Given the description of an element on the screen output the (x, y) to click on. 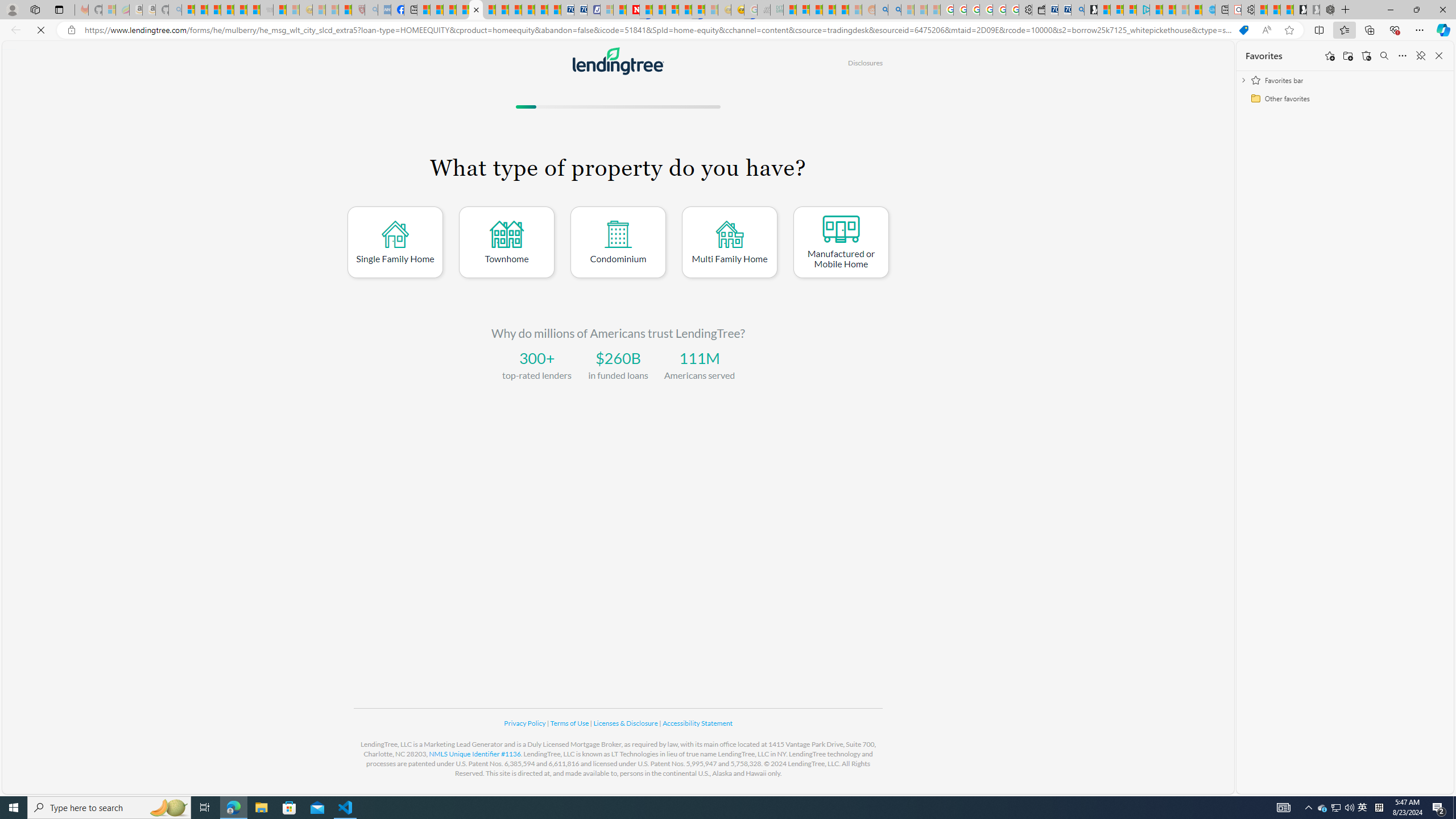
To get missing image descriptions, open the context menu. (617, 60)
LendingTree - Compare Lenders (475, 9)
Navy Quest (763, 9)
Trusted Community Engagement and Contributions | Guidelines (646, 9)
Robert H. Shmerling, MD - Harvard Health - Sleeping (357, 9)
Wallet (1037, 9)
Accessibility Statement (697, 723)
MSNBC - MSN (789, 9)
